Given the description of an element on the screen output the (x, y) to click on. 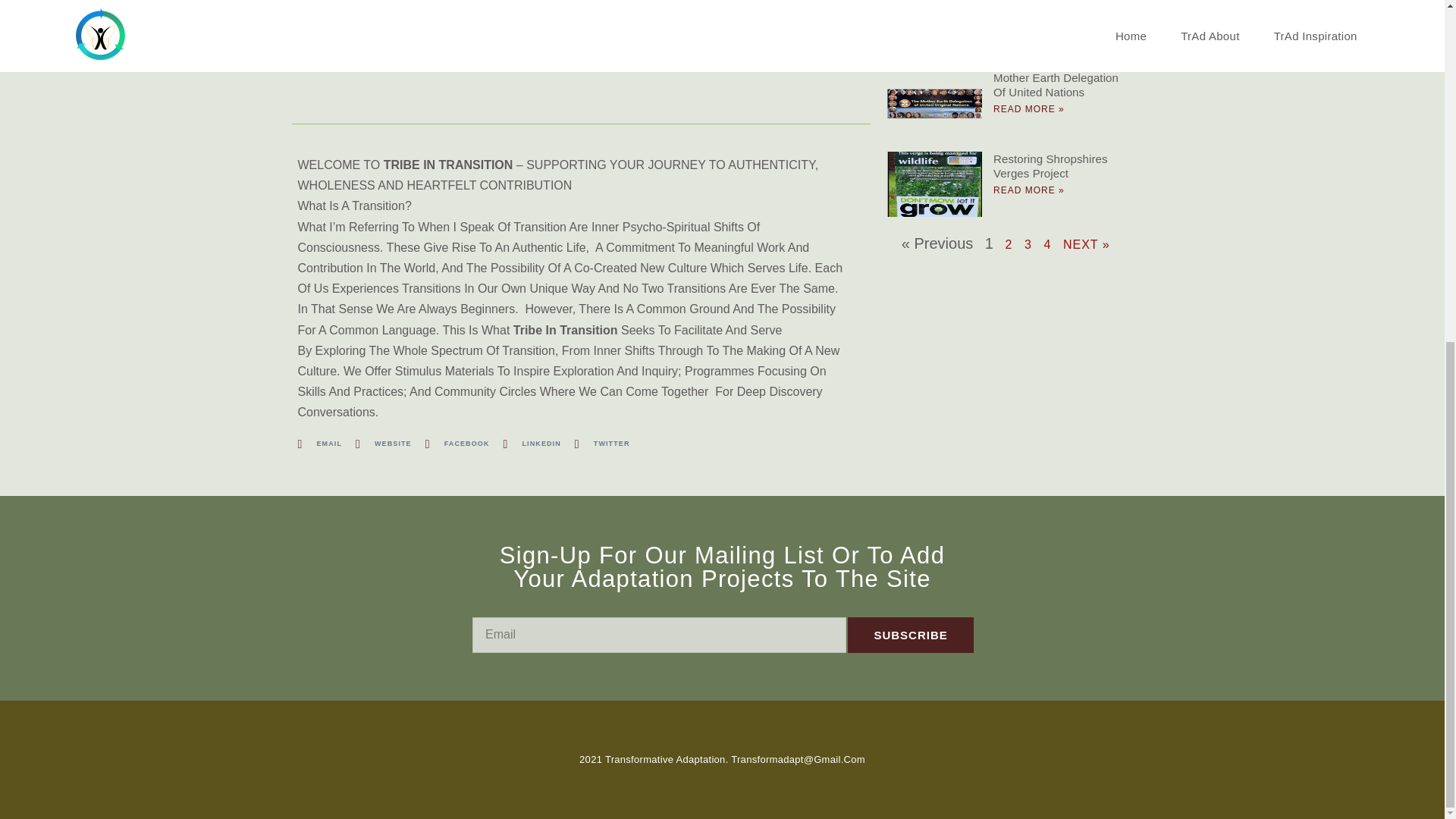
Mother Earth Delegation Of United Nations (1055, 85)
LINKEDIN (531, 444)
SUBSCRIBE (910, 634)
WEBSITE (383, 444)
Restoring Shropshires Verges Project (1050, 166)
The Fountain (1026, 1)
